Given the description of an element on the screen output the (x, y) to click on. 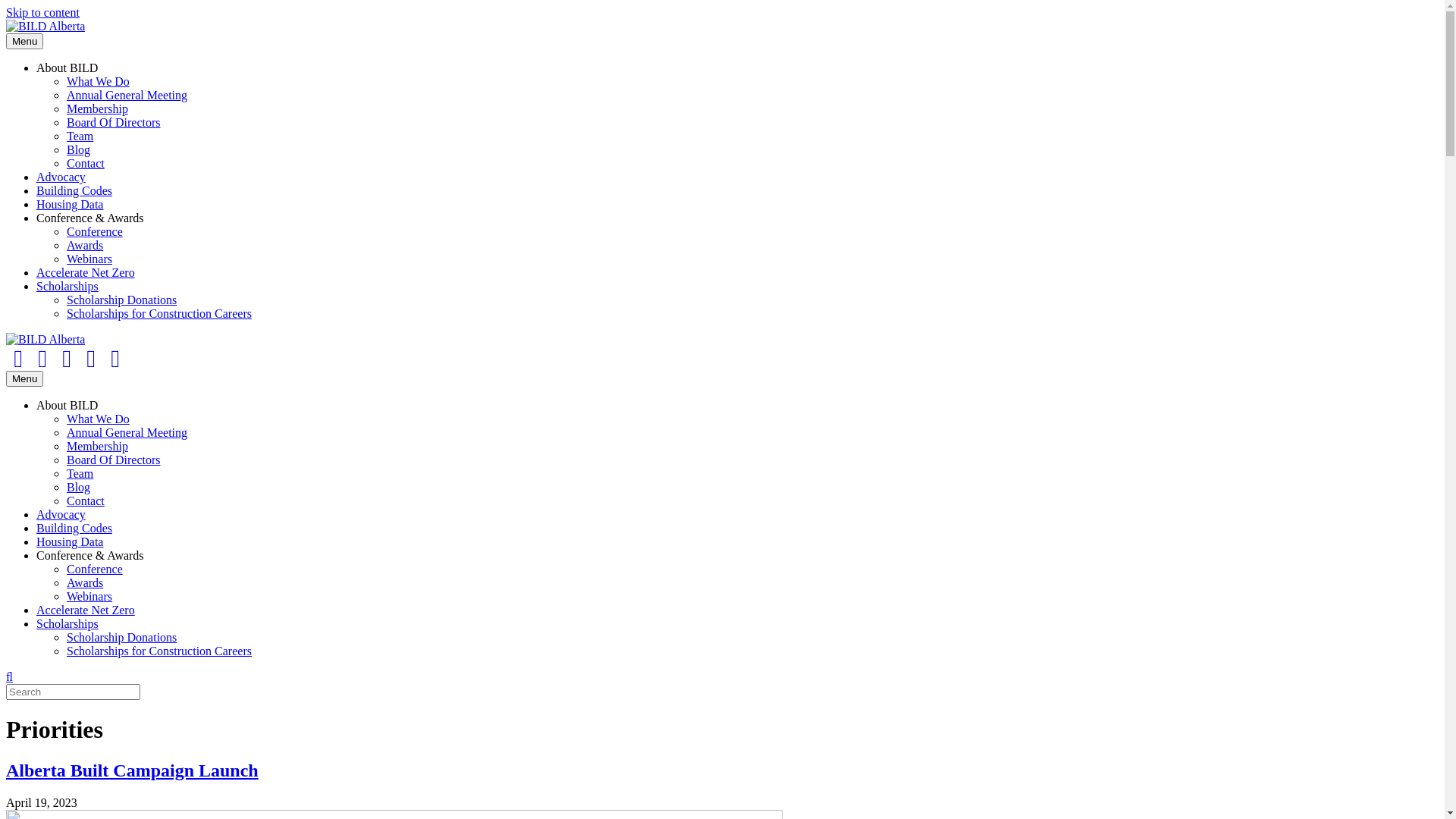
Accelerate Net Zero Element type: text (85, 272)
Conference Element type: text (94, 568)
Alberta Built Campaign Launch Element type: text (132, 770)
Team Element type: text (79, 135)
Instagram Element type: text (90, 358)
Contact Element type: text (85, 500)
Conference & Awards Element type: text (90, 217)
Menu Element type: text (24, 41)
Contact Element type: text (85, 162)
Building Codes Element type: text (74, 190)
Advocacy Element type: text (60, 176)
About BILD Element type: text (66, 67)
Skip to content Element type: text (42, 12)
Board Of Directors Element type: text (113, 122)
Type and press Enter to search. Element type: hover (722, 691)
Advocacy Element type: text (60, 514)
Scholarships Element type: text (67, 285)
Conference & Awards Element type: text (90, 555)
Scholarships Element type: text (67, 623)
What We Do Element type: text (97, 418)
Annual General Meeting Element type: text (126, 432)
Email Element type: text (115, 358)
About BILD Element type: text (66, 404)
Accelerate Net Zero Element type: text (85, 609)
Webinars Element type: text (89, 595)
Membership Element type: text (97, 108)
Awards Element type: text (84, 244)
Twitter Element type: text (42, 358)
Scholarships for Construction Careers Element type: text (158, 313)
Scholarship Donations Element type: text (121, 299)
Webinars Element type: text (89, 258)
Blog Element type: text (78, 149)
Menu Element type: text (24, 378)
What We Do Element type: text (97, 81)
Board Of Directors Element type: text (113, 459)
Annual General Meeting Element type: text (126, 94)
Blog Element type: text (78, 486)
Linkedin Element type: text (66, 358)
Team Element type: text (79, 473)
Awards Element type: text (84, 582)
Scholarships for Construction Careers Element type: text (158, 650)
Building Codes Element type: text (74, 527)
Housing Data Element type: text (69, 203)
Conference Element type: text (94, 231)
Housing Data Element type: text (69, 541)
Membership Element type: text (97, 445)
Facebook Element type: text (18, 358)
Scholarship Donations Element type: text (121, 636)
